Given the description of an element on the screen output the (x, y) to click on. 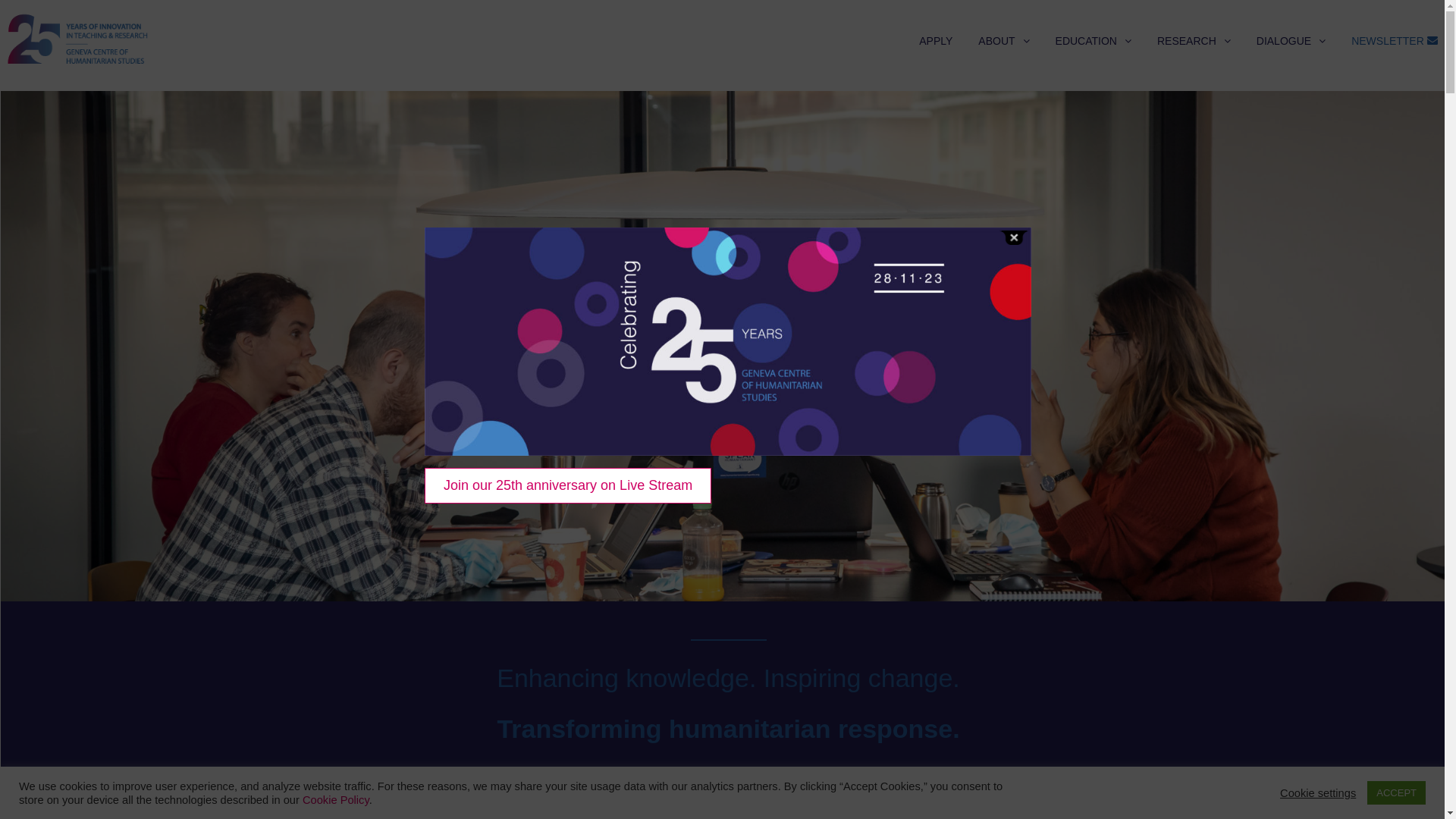
Join our 25th anniversary on Live Stream Element type: text (567, 485)
Cookie settings Element type: text (1317, 792)
ABOUT Element type: text (1003, 40)
NEWSLETTER Element type: text (1394, 40)
Skip to content Element type: text (5, 90)
RESEARCH Element type: text (1193, 40)
APPLY Element type: text (935, 40)
ACCEPT Element type: text (1396, 792)
Cookie Policy Element type: text (335, 799)
Close Element type: hover (1013, 237)
EDUCATION Element type: text (1093, 40)
DIALOGUE Element type: text (1290, 40)
